Given the description of an element on the screen output the (x, y) to click on. 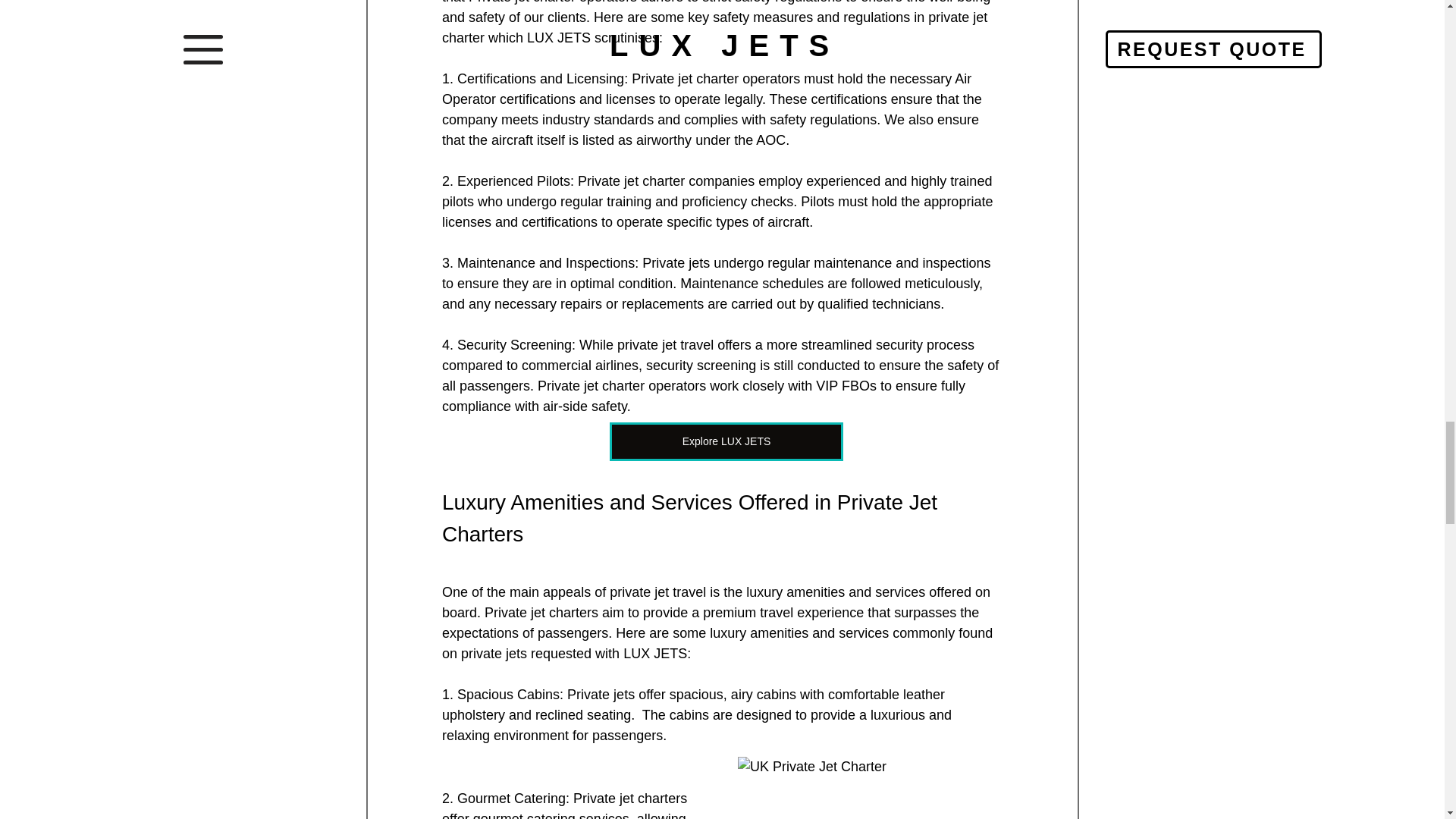
Explore LUX JETS (726, 441)
